Given the description of an element on the screen output the (x, y) to click on. 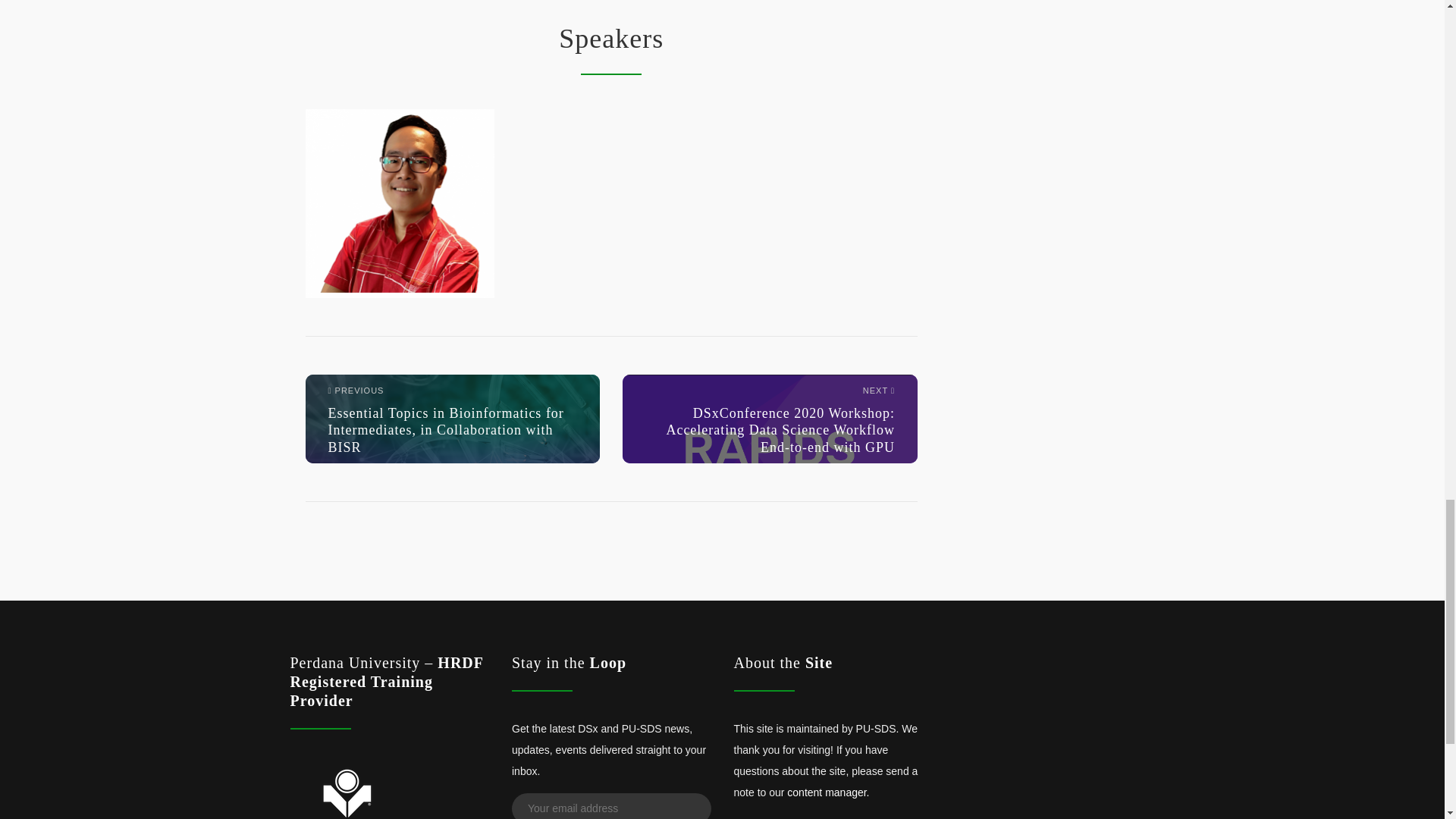
Peter Kua (398, 203)
Peter Kua (398, 202)
